Given the description of an element on the screen output the (x, y) to click on. 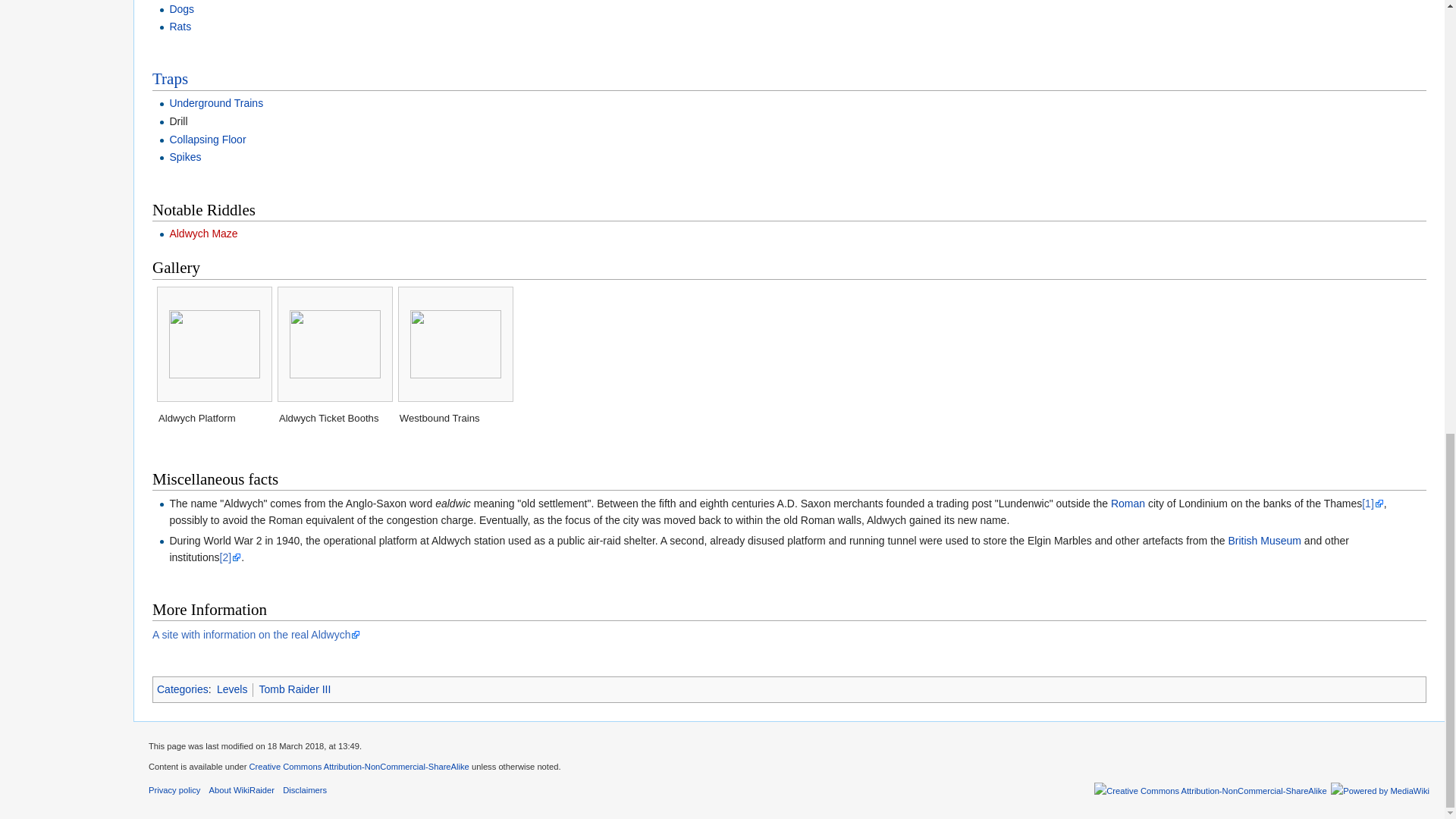
Rats (179, 26)
Dogs (180, 9)
Traps (169, 78)
